Given the description of an element on the screen output the (x, y) to click on. 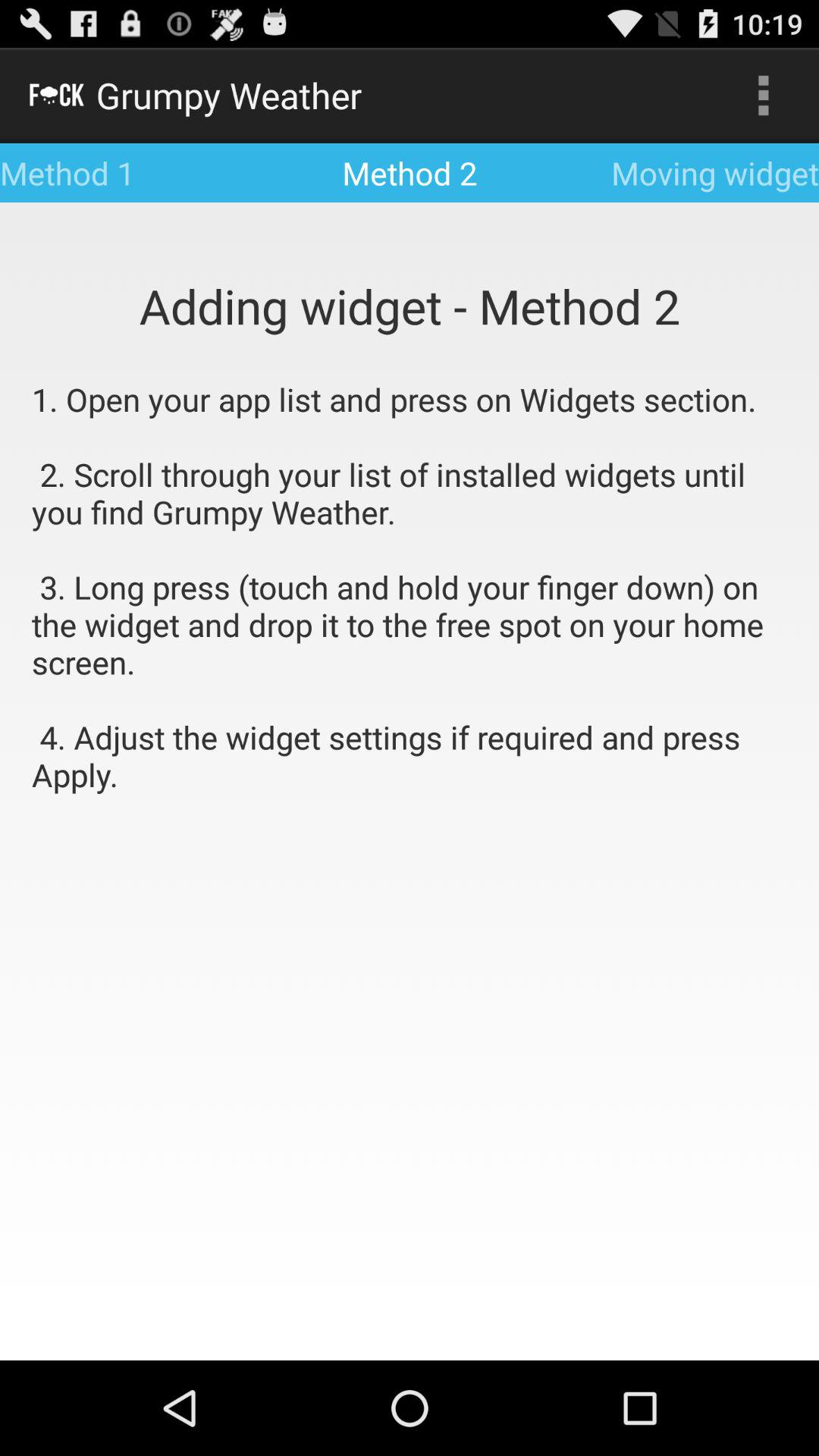
press the item to the right of the method 2 (763, 95)
